Given the description of an element on the screen output the (x, y) to click on. 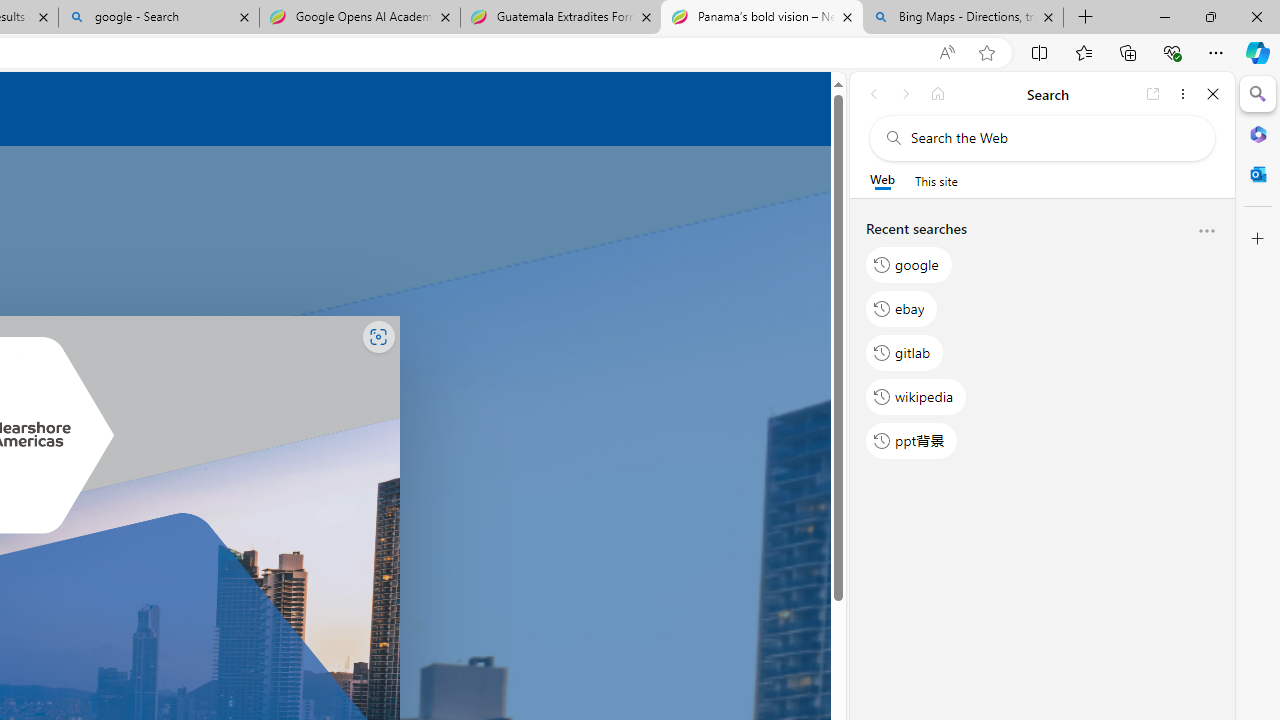
gitlab (905, 352)
